Given the description of an element on the screen output the (x, y) to click on. 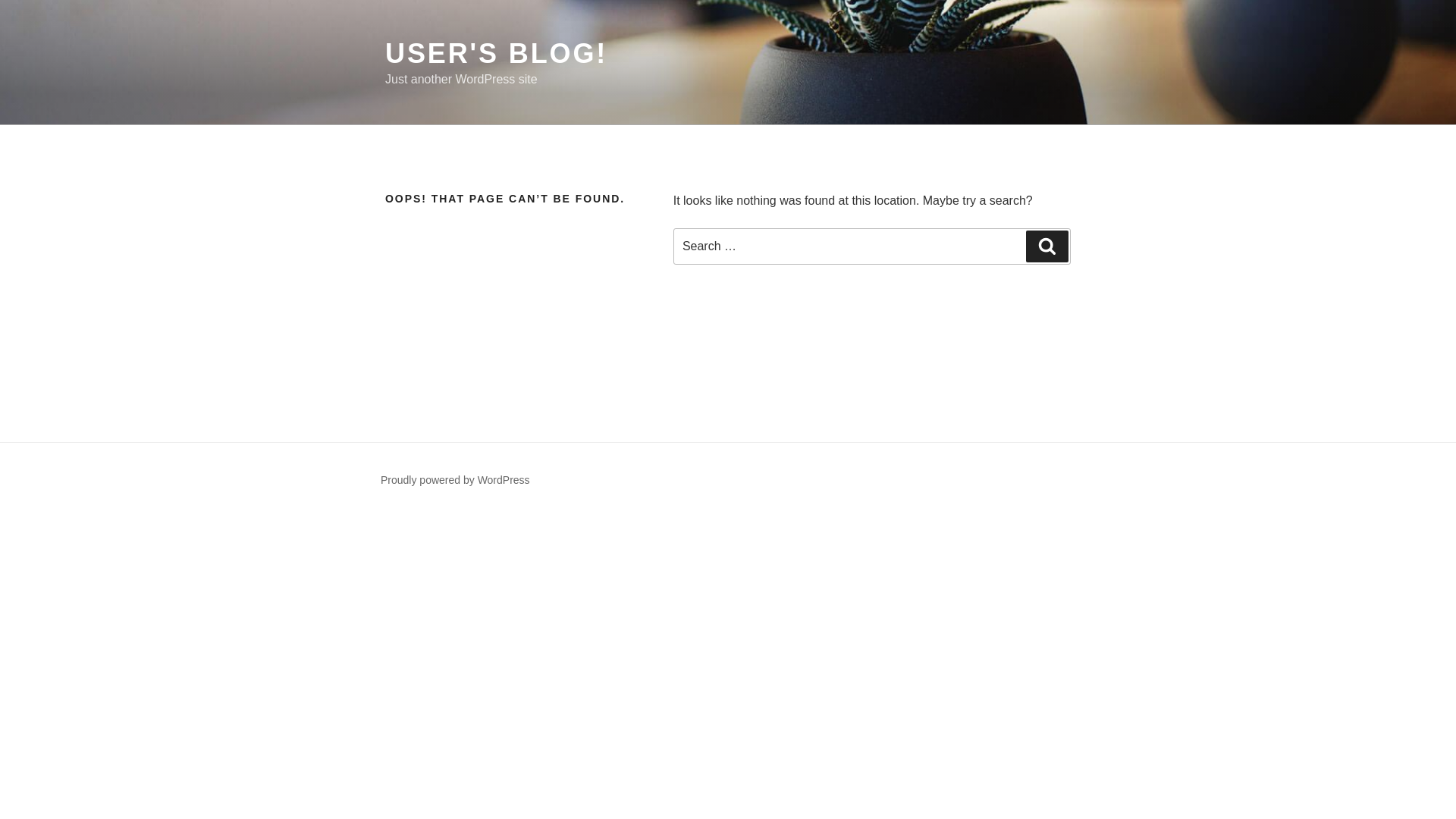
Search (1047, 246)
USER'S BLOG! (496, 52)
Proudly powered by WordPress (454, 480)
